Given the description of an element on the screen output the (x, y) to click on. 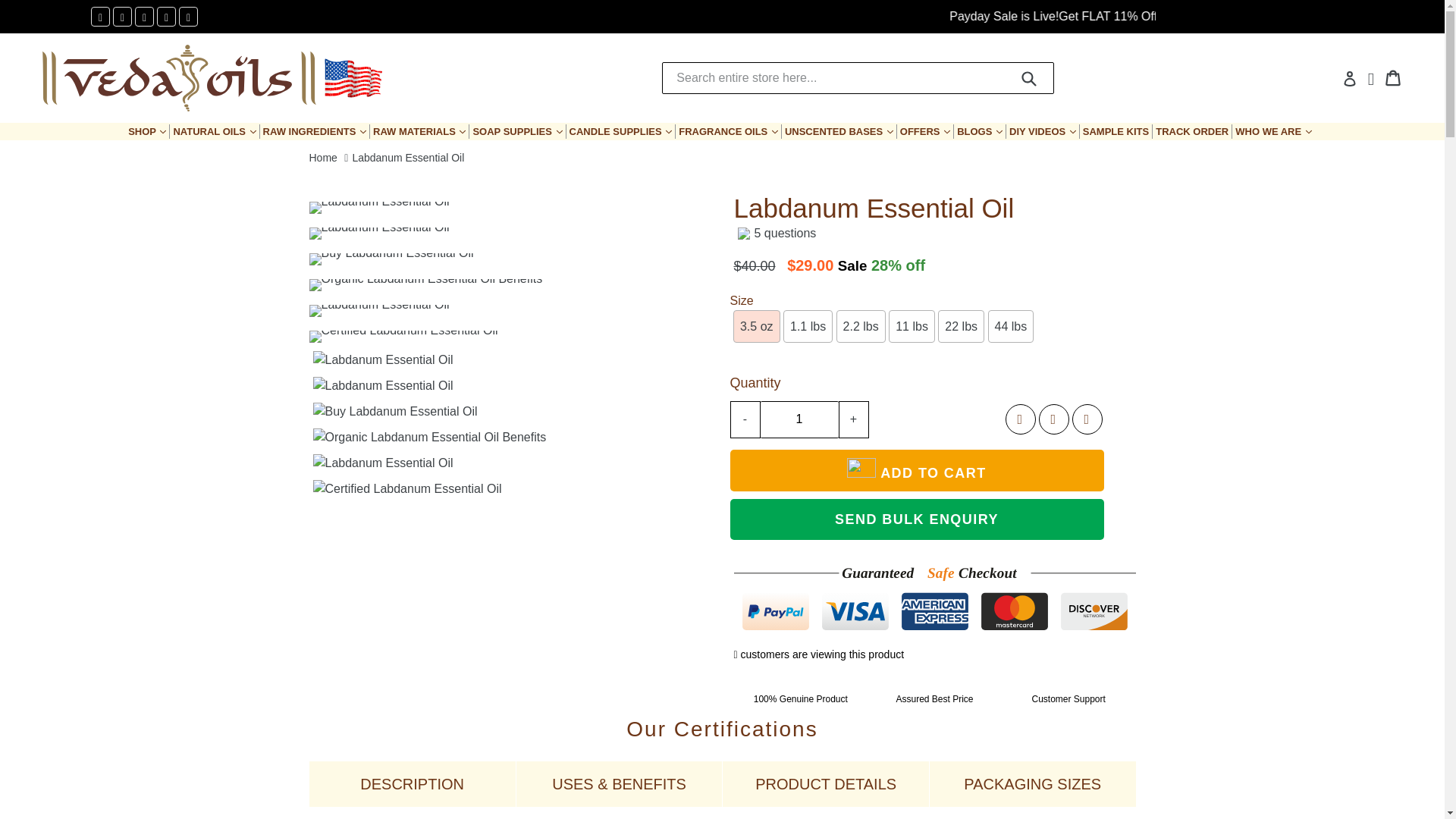
1 (799, 419)
